Given the description of an element on the screen output the (x, y) to click on. 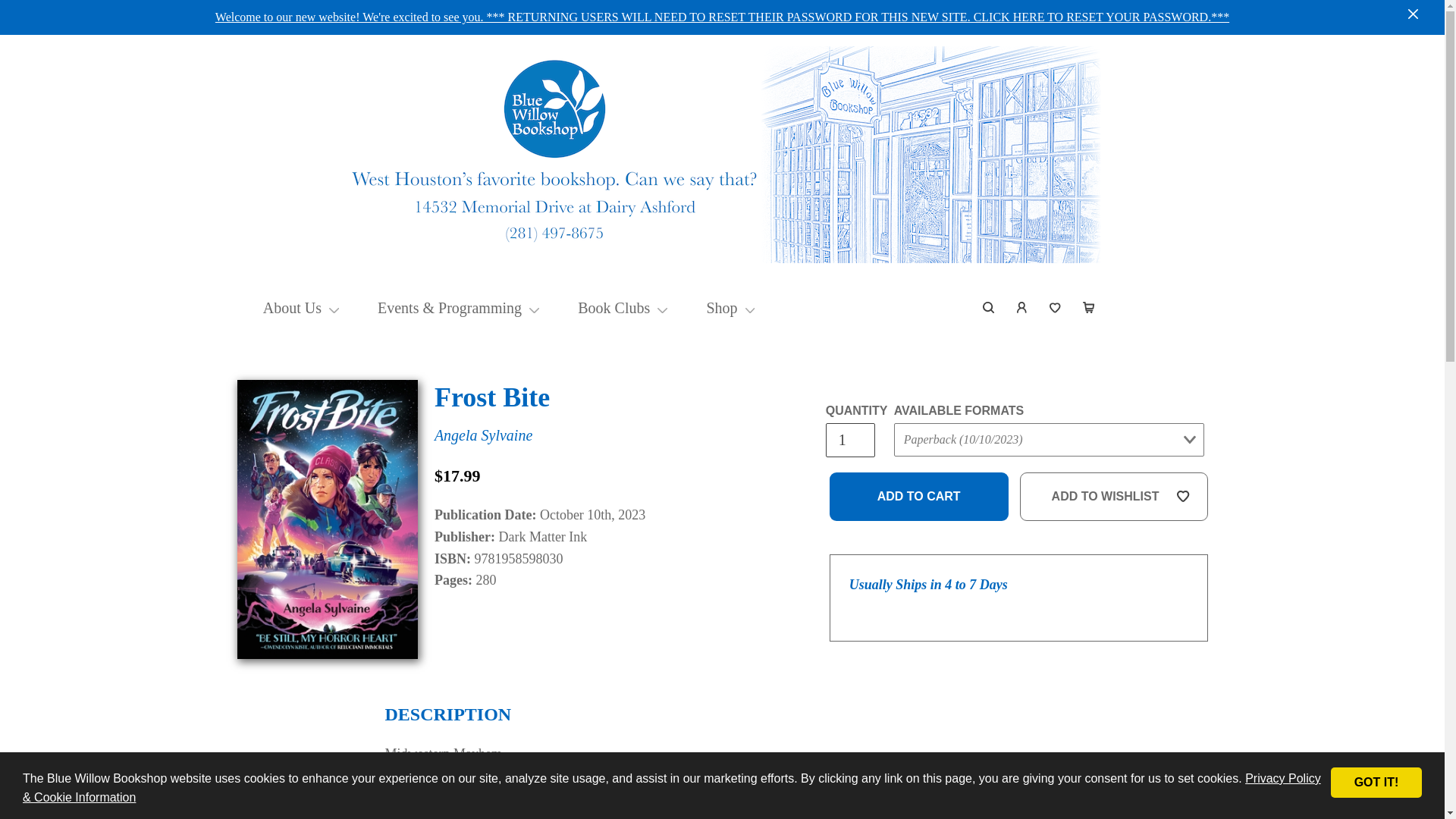
Log in (1022, 307)
1 (850, 440)
Cart (1088, 307)
About Us (292, 307)
Log in (1022, 307)
Book Clubs (613, 307)
Search (989, 307)
Wishlists (1055, 307)
Cart (1088, 307)
SEARCH (989, 307)
Add to cart (919, 496)
Wishlist (1055, 307)
